Given the description of an element on the screen output the (x, y) to click on. 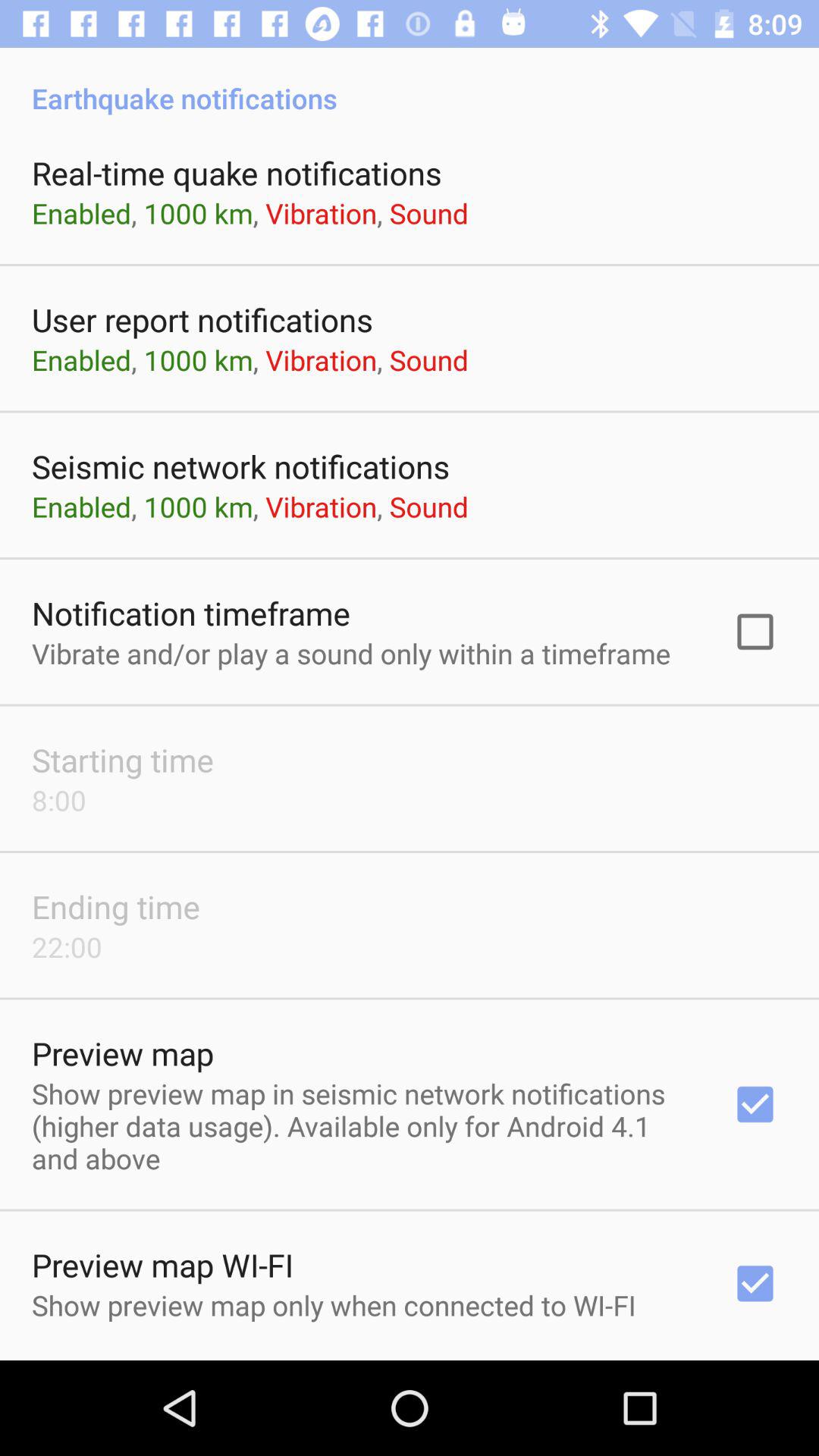
tap the icon below earthquake notifications icon (236, 172)
